Given the description of an element on the screen output the (x, y) to click on. 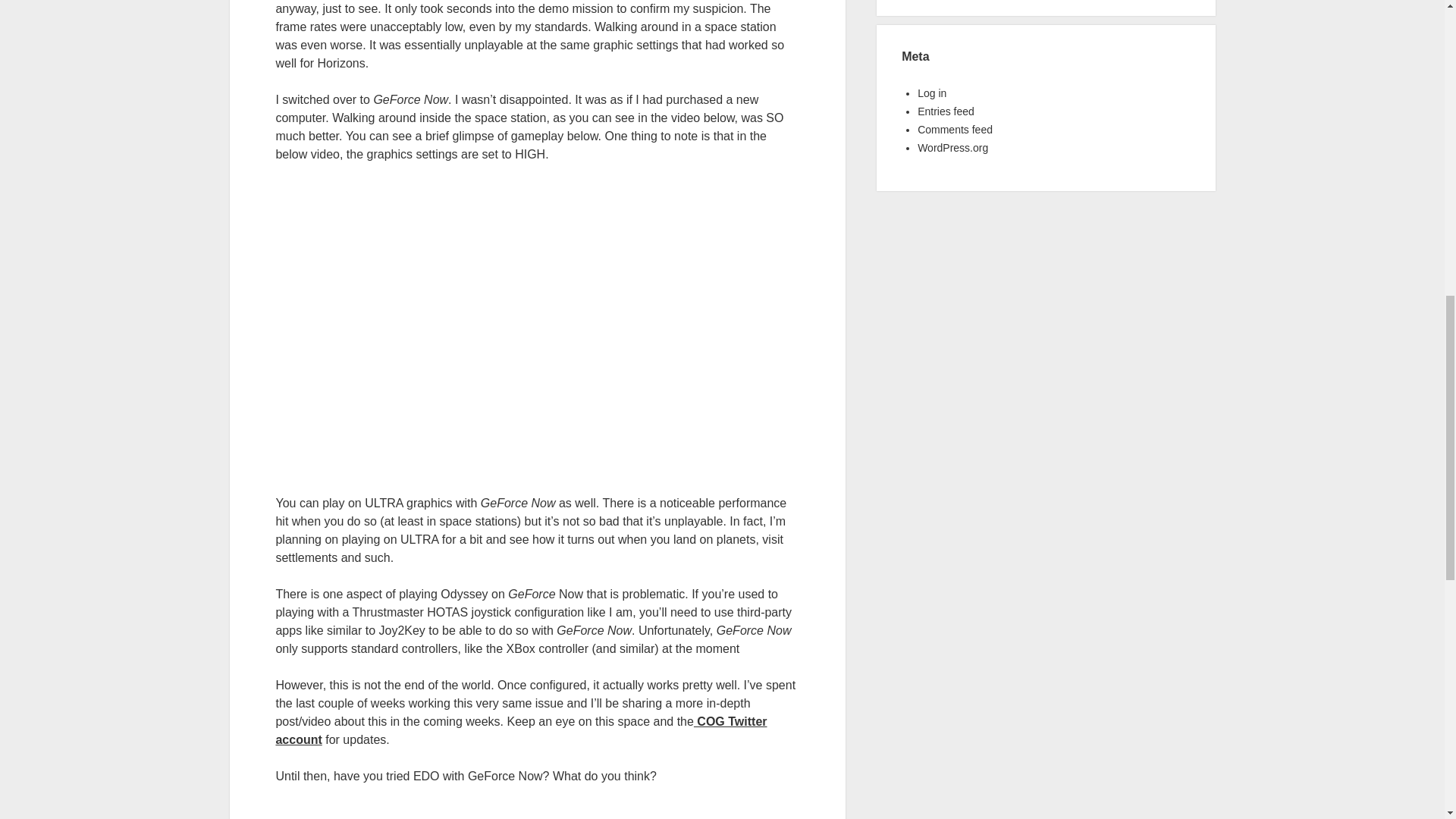
Comments feed (954, 129)
Entries feed (945, 111)
WordPress.org (952, 147)
Log in (931, 92)
COG Twitter account (521, 730)
